Given the description of an element on the screen output the (x, y) to click on. 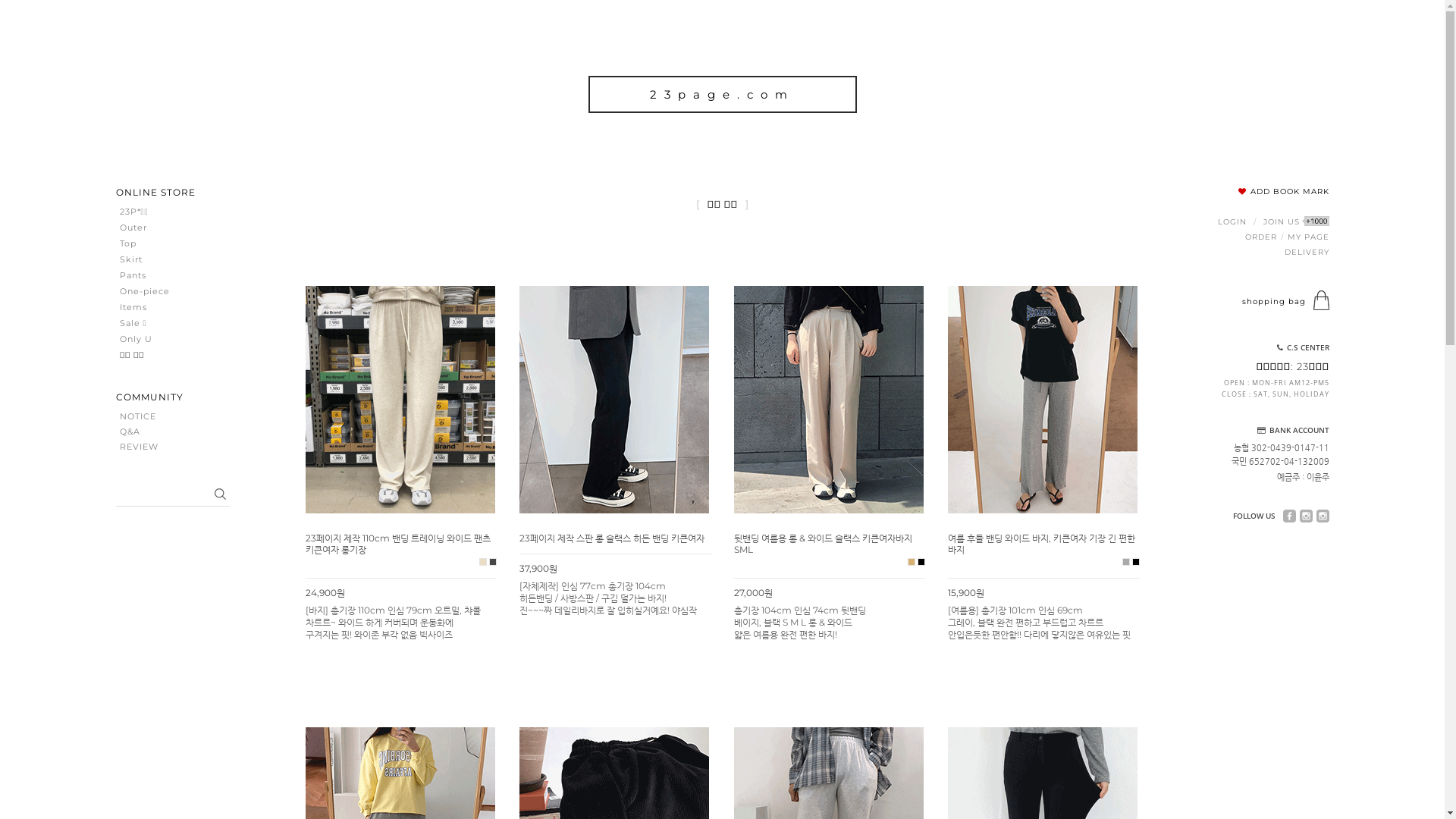
ORDER Element type: text (1261, 236)
Only U Element type: text (157, 339)
MY PAGE Element type: text (1308, 236)
LOGIN Element type: text (1231, 221)
JOIN US Element type: text (1296, 221)
Pants Element type: text (157, 275)
One-piece Element type: text (157, 291)
Items Element type: text (157, 307)
NOTICE Element type: text (137, 416)
23page.com Element type: text (722, 93)
Skirt Element type: text (157, 259)
Q&A Element type: text (129, 431)
shopping bag Element type: text (1273, 301)
Top Element type: text (157, 243)
Outer Element type: text (157, 227)
ADD BOOK MARK Element type: text (1282, 191)
DELIVERY Element type: text (1306, 252)
REVIEW Element type: text (138, 446)
